Given the description of an element on the screen output the (x, y) to click on. 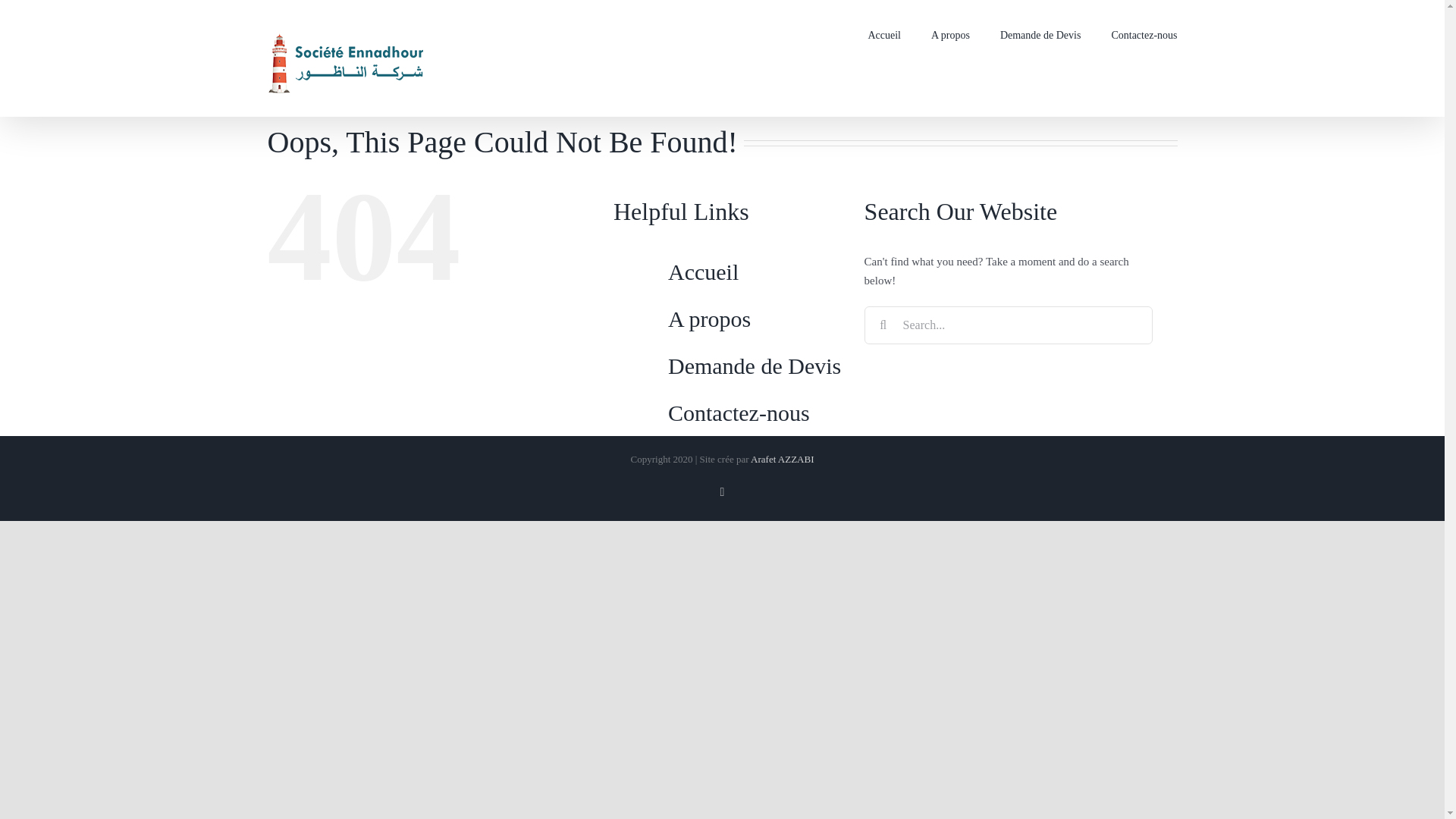
Contactez-nous (738, 412)
Arafet AZZABI (782, 459)
Accueil (703, 271)
Demande de Devis (1040, 33)
A propos (709, 318)
Contactez-nous (1143, 33)
Demande de Devis (754, 365)
